Given the description of an element on the screen output the (x, y) to click on. 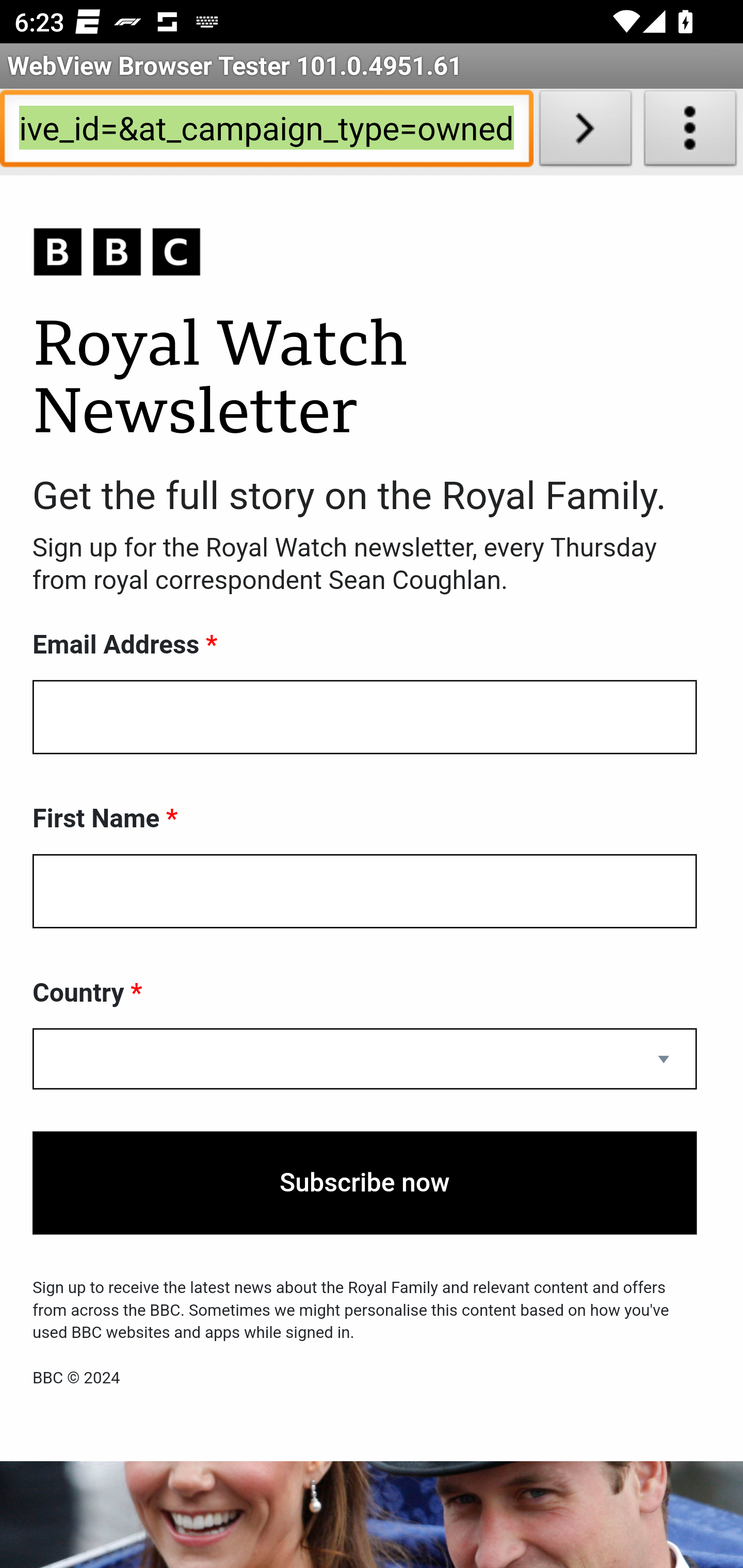
Load URL (585, 132)
About WebView (690, 132)
BBC (364, 253)
Subscribe now (364, 1182)
